Given the description of an element on the screen output the (x, y) to click on. 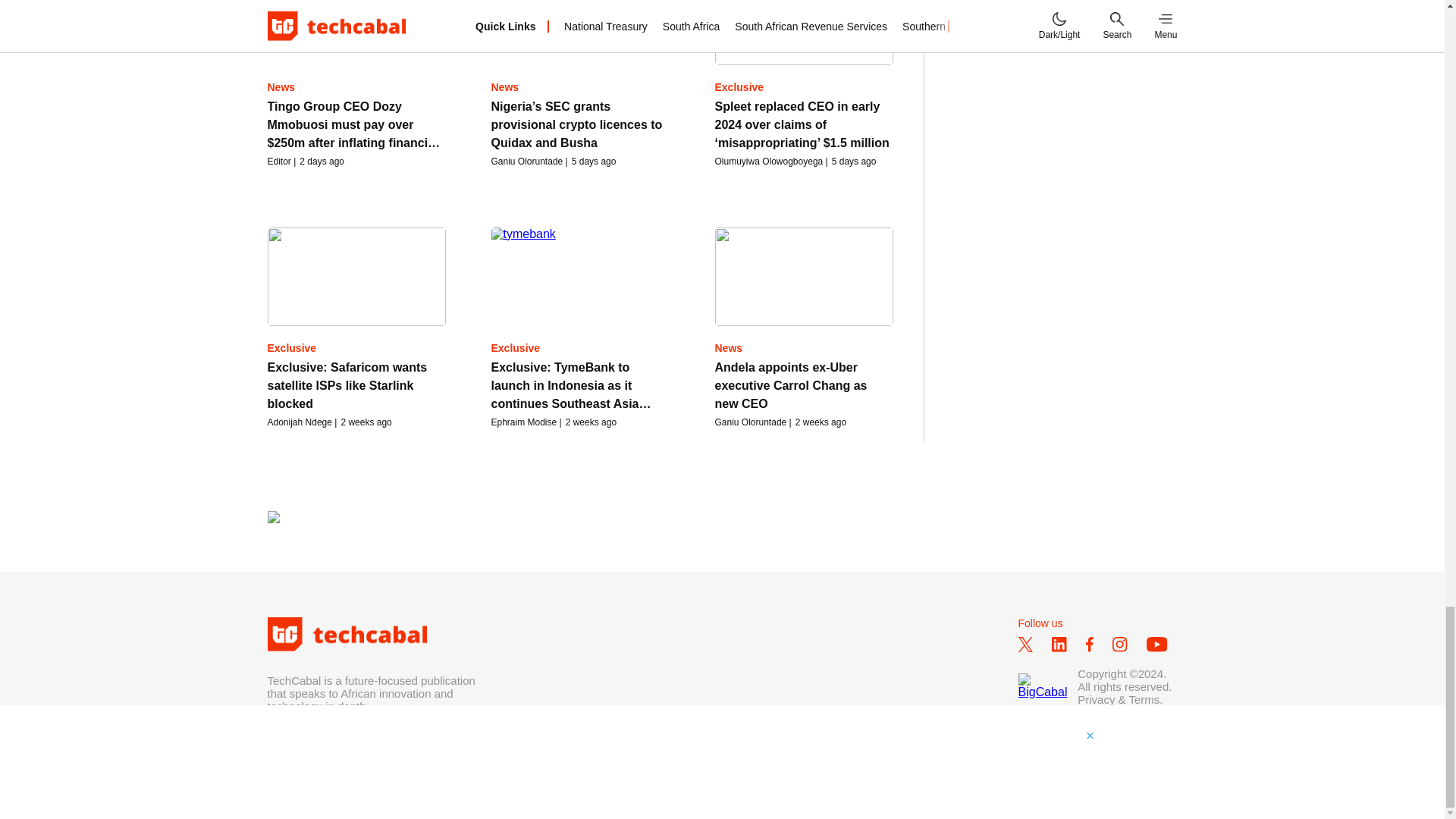
Posts by Editor (277, 161)
Posts by Ganiu Oloruntade (527, 161)
Posts by Adonijah Ndege (298, 421)
Posts by Ephraim Modise (524, 421)
Posts by Olumuyiwa Olowogboyega (768, 161)
Posts by Ganiu Oloruntade (750, 421)
